Given the description of an element on the screen output the (x, y) to click on. 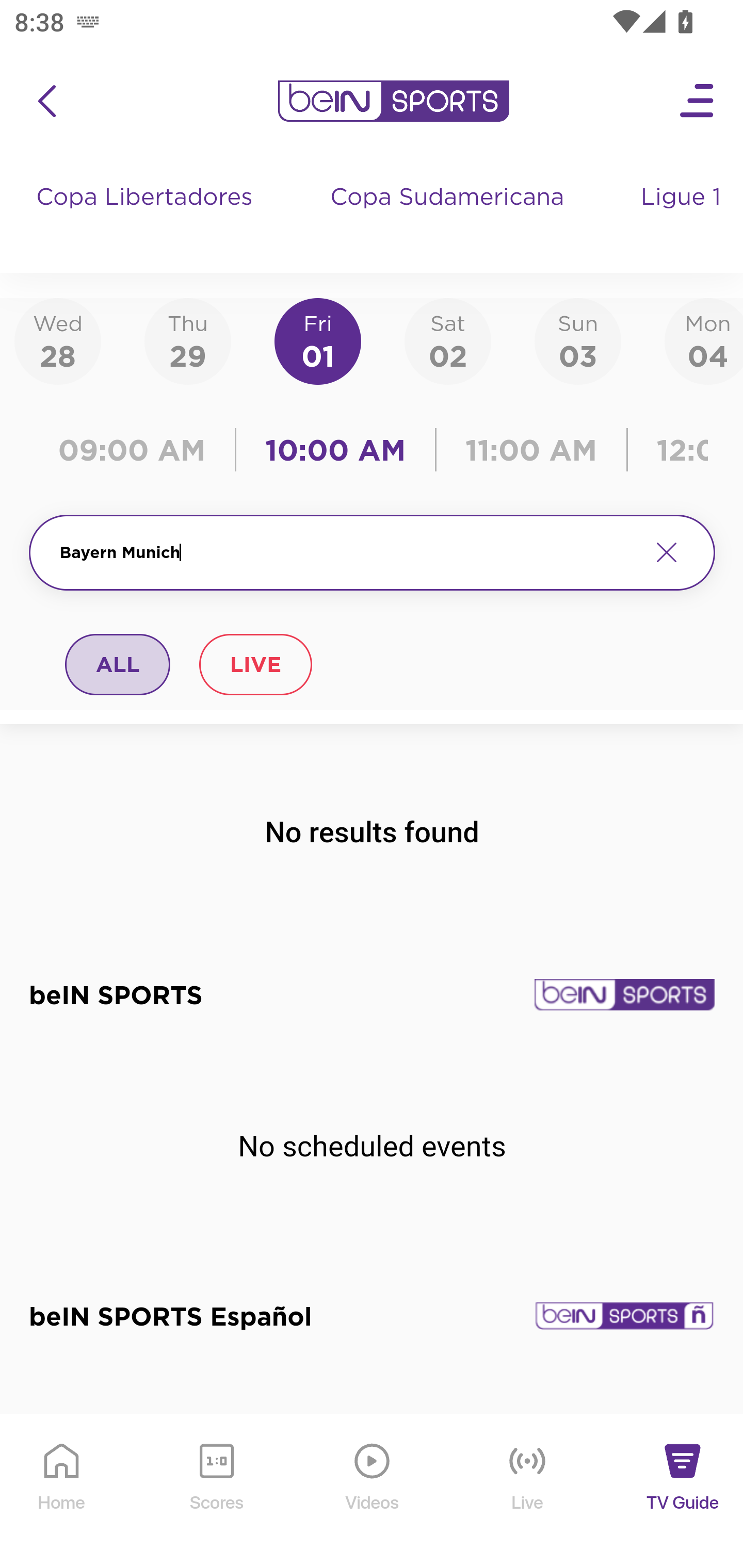
en-us?platform=mobile_android bein logo (392, 101)
icon back (46, 101)
Open Menu Icon (697, 101)
Copa Libertadores (146, 216)
Copa Sudamericana (448, 216)
Ligue 1 (682, 216)
Wed28 (58, 340)
Thu29 (187, 340)
Fri01 (318, 340)
Sat02 (447, 340)
Sun03 (578, 340)
Mon04 (703, 340)
09:00 AM (136, 449)
10:00 AM (335, 449)
11:00 AM (531, 449)
Bayern Munich (346, 552)
ALL (118, 663)
LIVE (255, 663)
Home Home Icon Home (61, 1491)
Scores Scores Icon Scores (216, 1491)
Videos Videos Icon Videos (372, 1491)
TV Guide TV Guide Icon TV Guide (682, 1491)
